Given the description of an element on the screen output the (x, y) to click on. 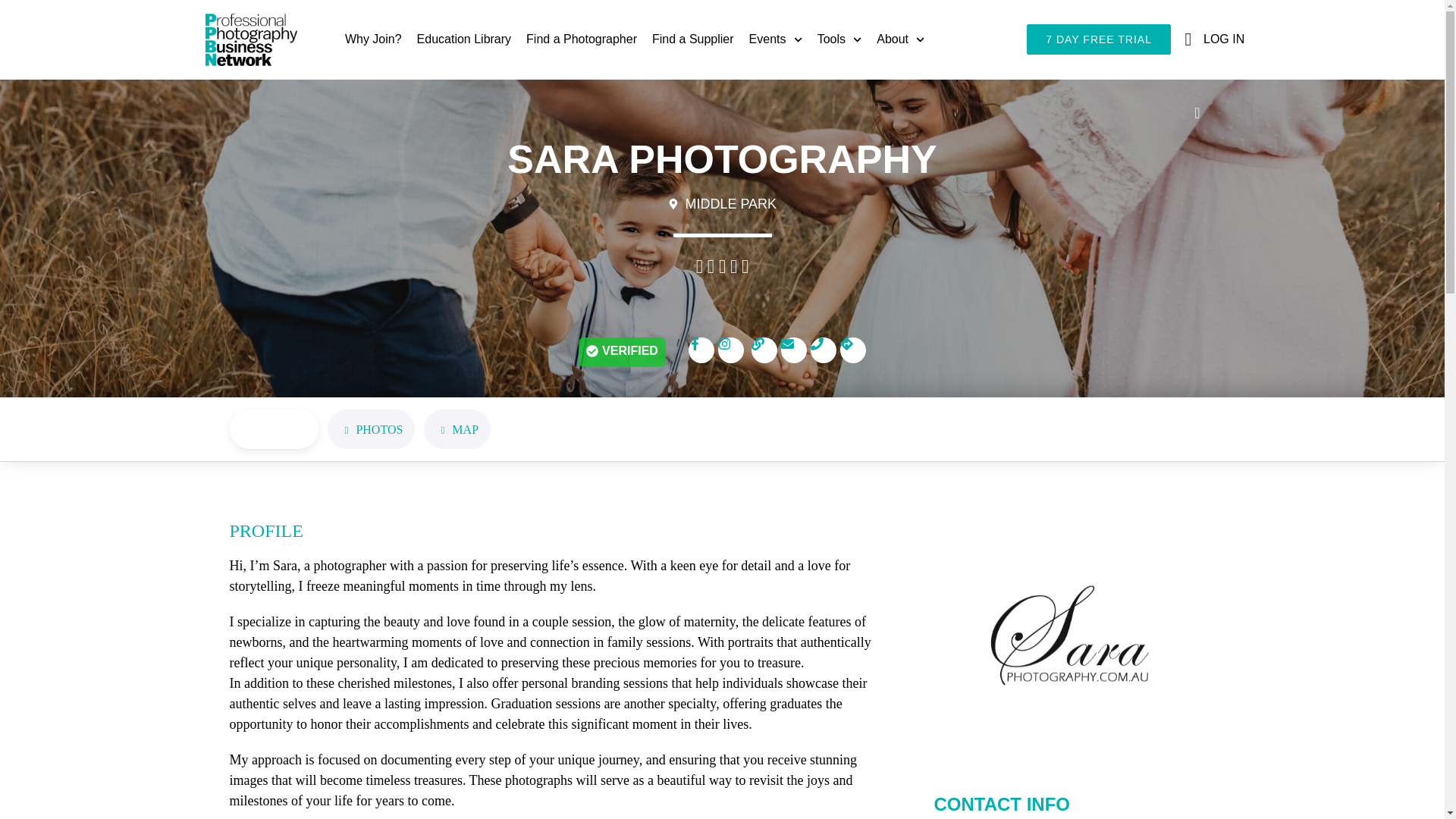
PHOTOS (370, 429)
About (900, 39)
MAP (456, 429)
Tools (839, 39)
PROFILE (273, 429)
LOG IN (1210, 39)
Why Join? (373, 39)
Find a Supplier (693, 39)
Education Library (464, 39)
VERIFIED (621, 351)
Events (775, 39)
7 DAY FREE TRIAL (1098, 39)
Find a Photographer (581, 39)
